Given the description of an element on the screen output the (x, y) to click on. 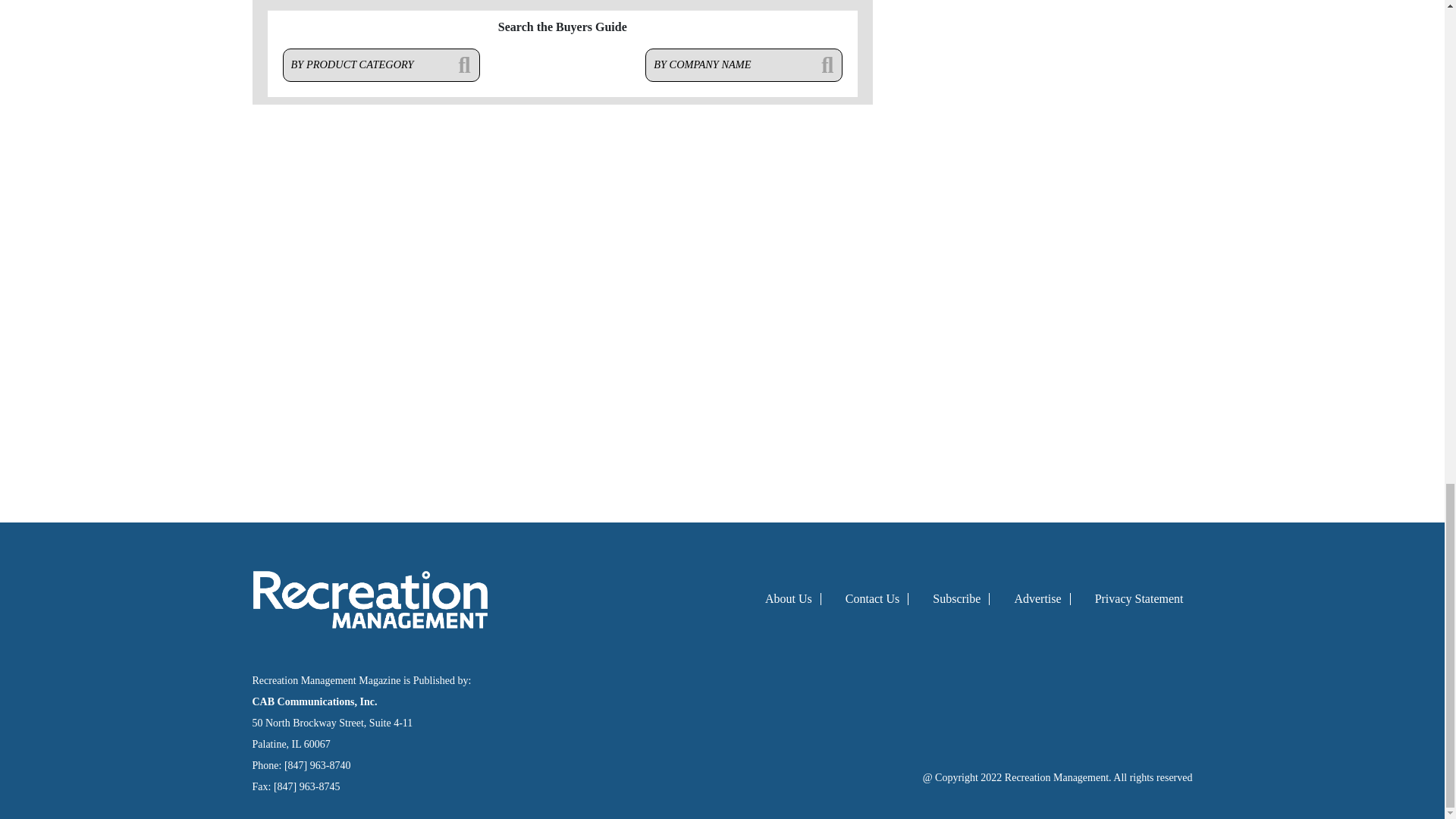
Subscribe (956, 598)
Advertise (1037, 598)
Contact Us (872, 598)
Privacy Statement (1138, 598)
About Us (788, 598)
